Given the description of an element on the screen output the (x, y) to click on. 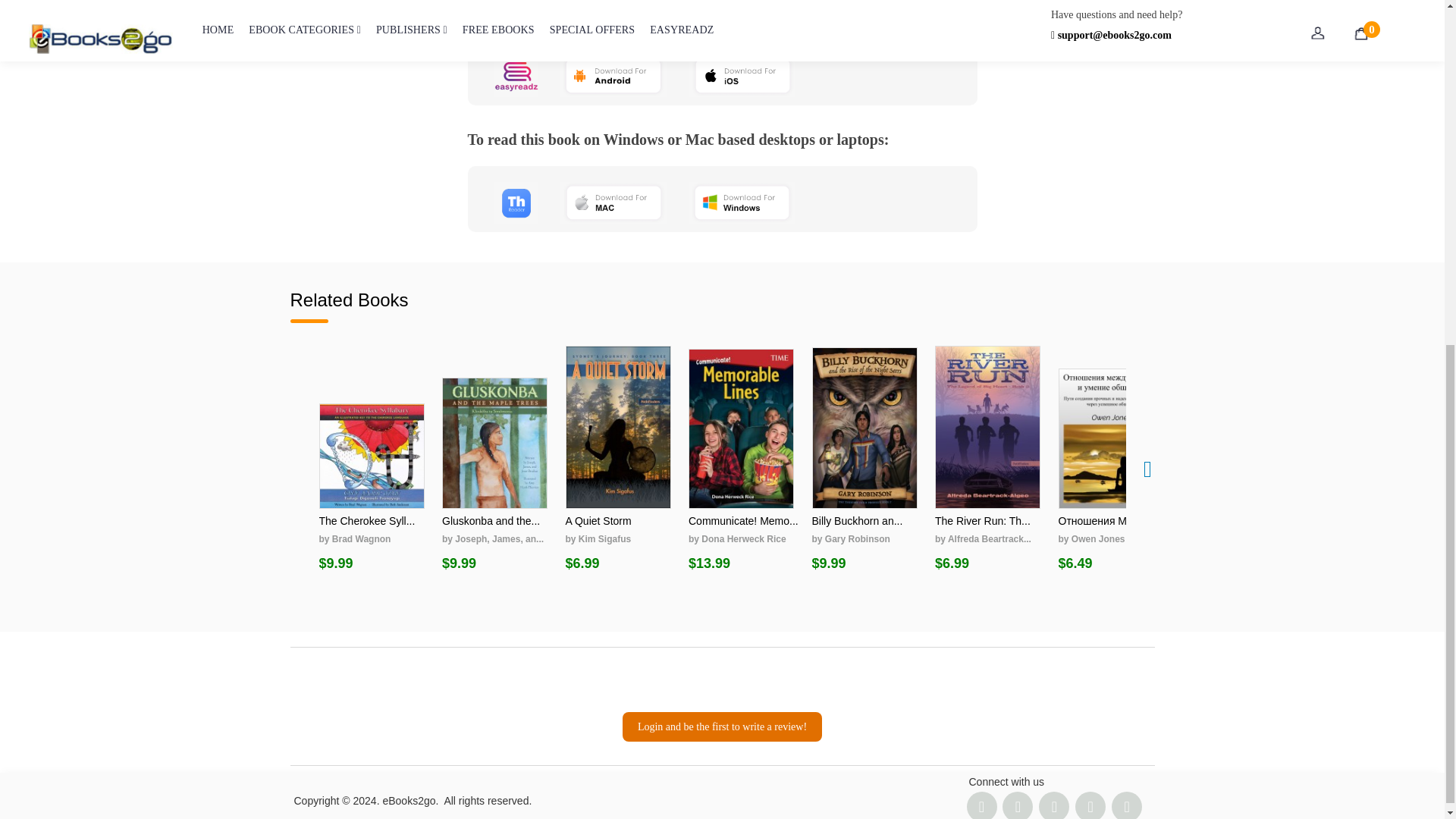
The Cottonwood Sings (1356, 455)
